Given the description of an element on the screen output the (x, y) to click on. 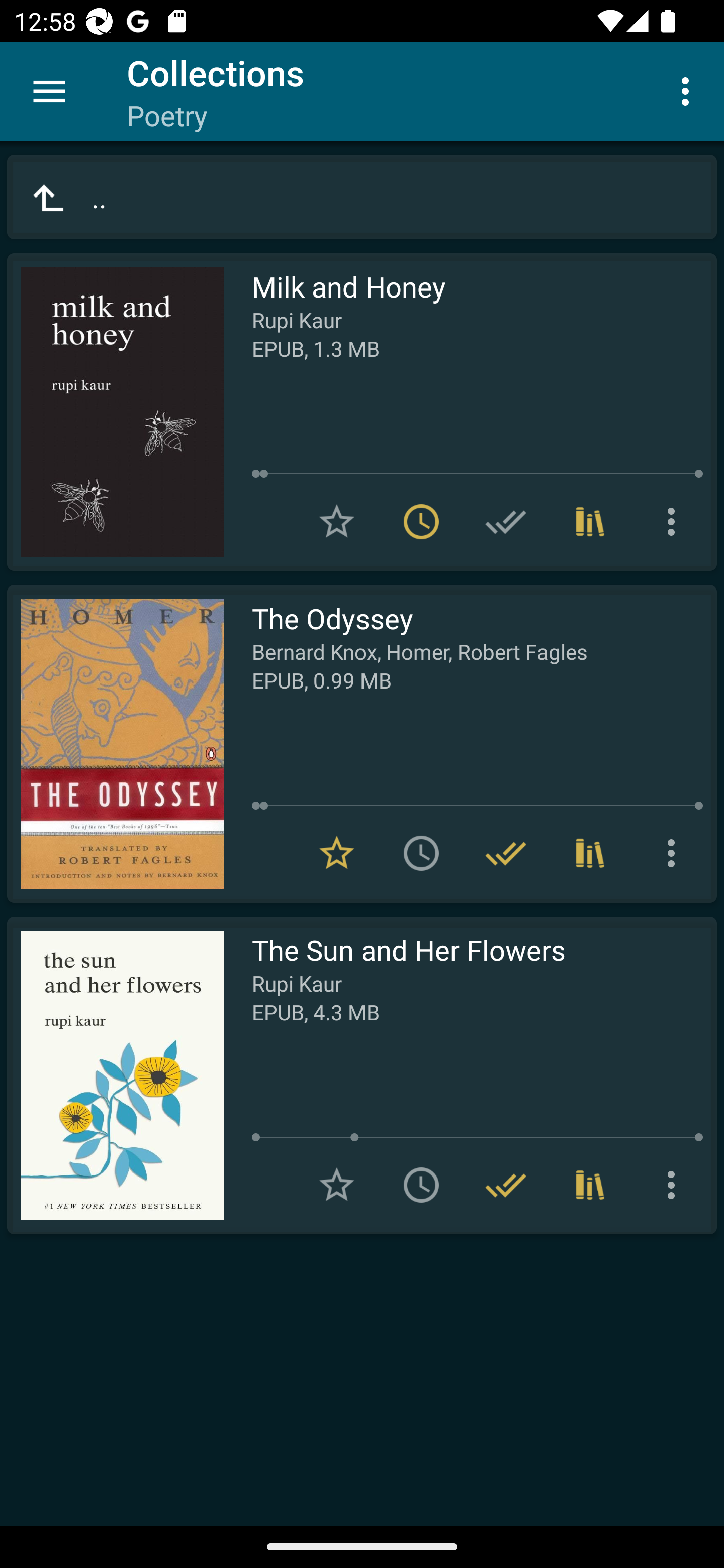
Menu (49, 91)
More options (688, 90)
.. (361, 197)
Read Milk and Honey (115, 412)
Add to Favorites (336, 521)
Remove from To read (421, 521)
Add to Have read (505, 521)
Collections (3) (590, 521)
More options (674, 521)
Read The Odyssey (115, 743)
Remove from Favorites (336, 852)
Add to To read (421, 852)
Remove from Have read (505, 852)
Collections (2) (590, 852)
More options (674, 852)
Read The Sun and Her Flowers (115, 1075)
Add to Favorites (336, 1185)
Add to To read (421, 1185)
Remove from Have read (505, 1185)
Collections (1) (590, 1185)
More options (674, 1185)
